Given the description of an element on the screen output the (x, y) to click on. 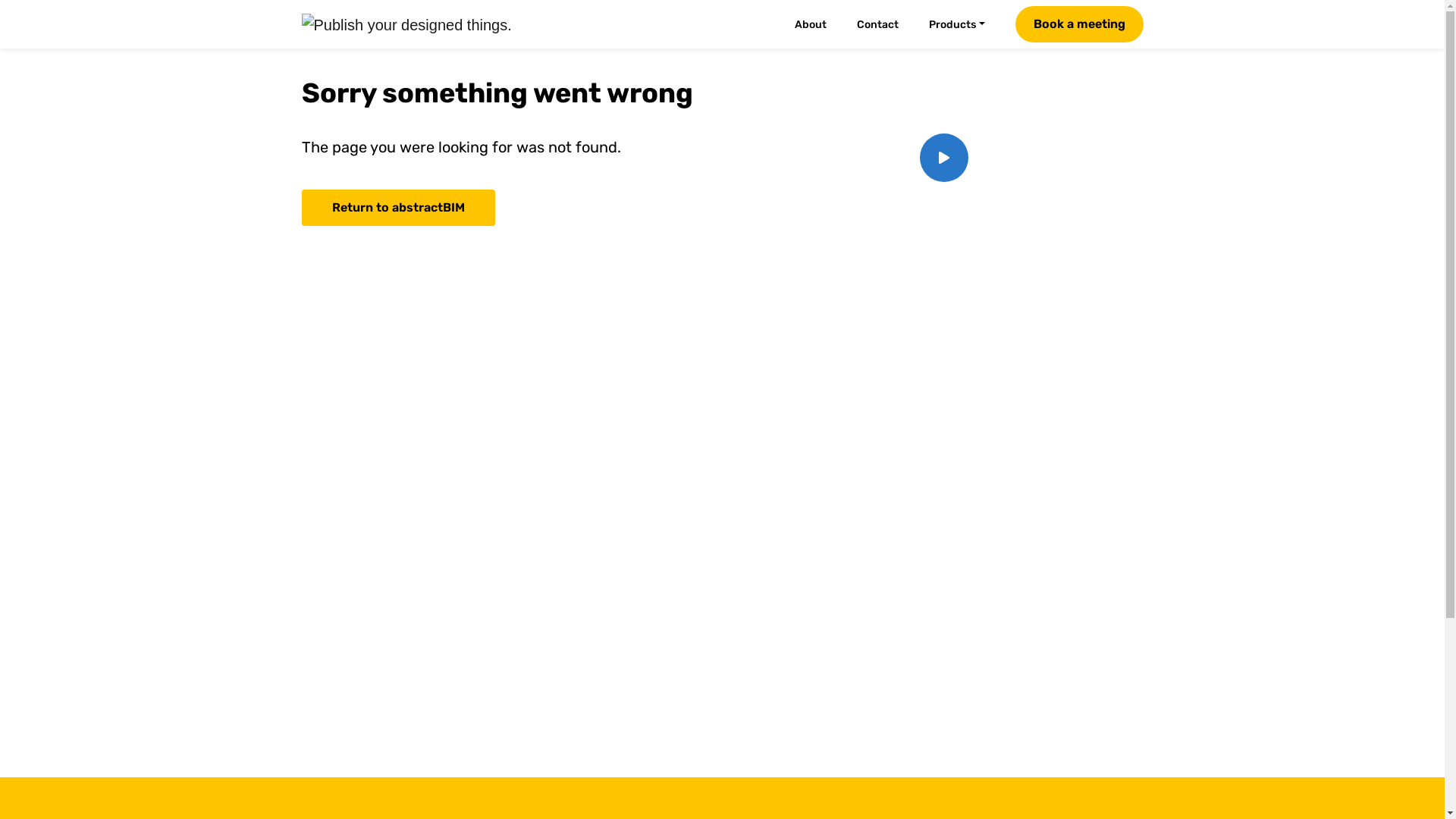
Contact Element type: text (886, 24)
Products Element type: text (965, 24)
About Element type: text (819, 24)
Return to abstractBIM Element type: text (398, 207)
Book a meeting Element type: text (1078, 24)
